Given the description of an element on the screen output the (x, y) to click on. 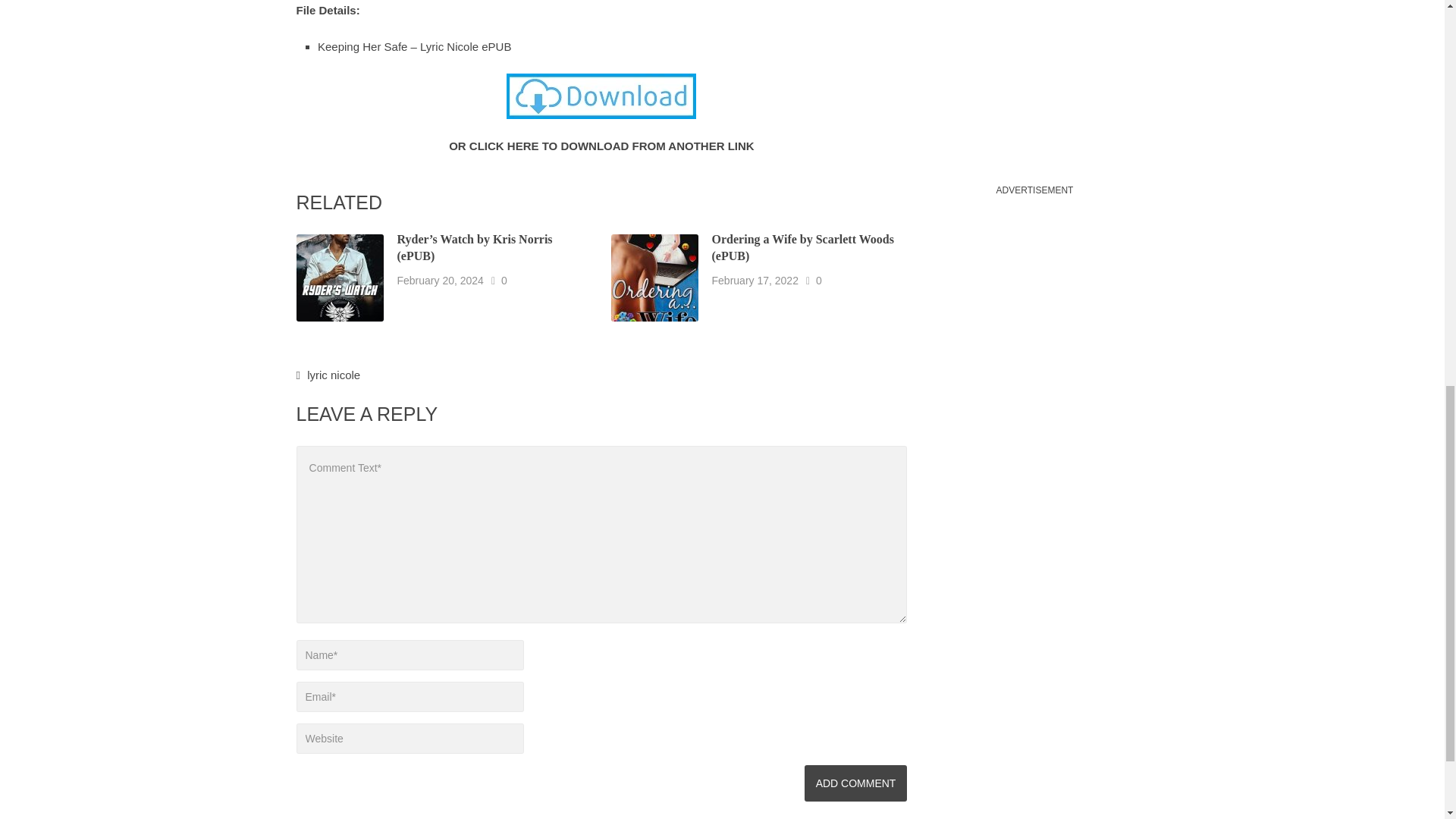
Add Comment (856, 782)
0 (818, 279)
OR CLICK HERE TO DOWNLOAD FROM ANOTHER LINK (601, 145)
Add Comment (856, 782)
lyric nicole (333, 374)
